Given the description of an element on the screen output the (x, y) to click on. 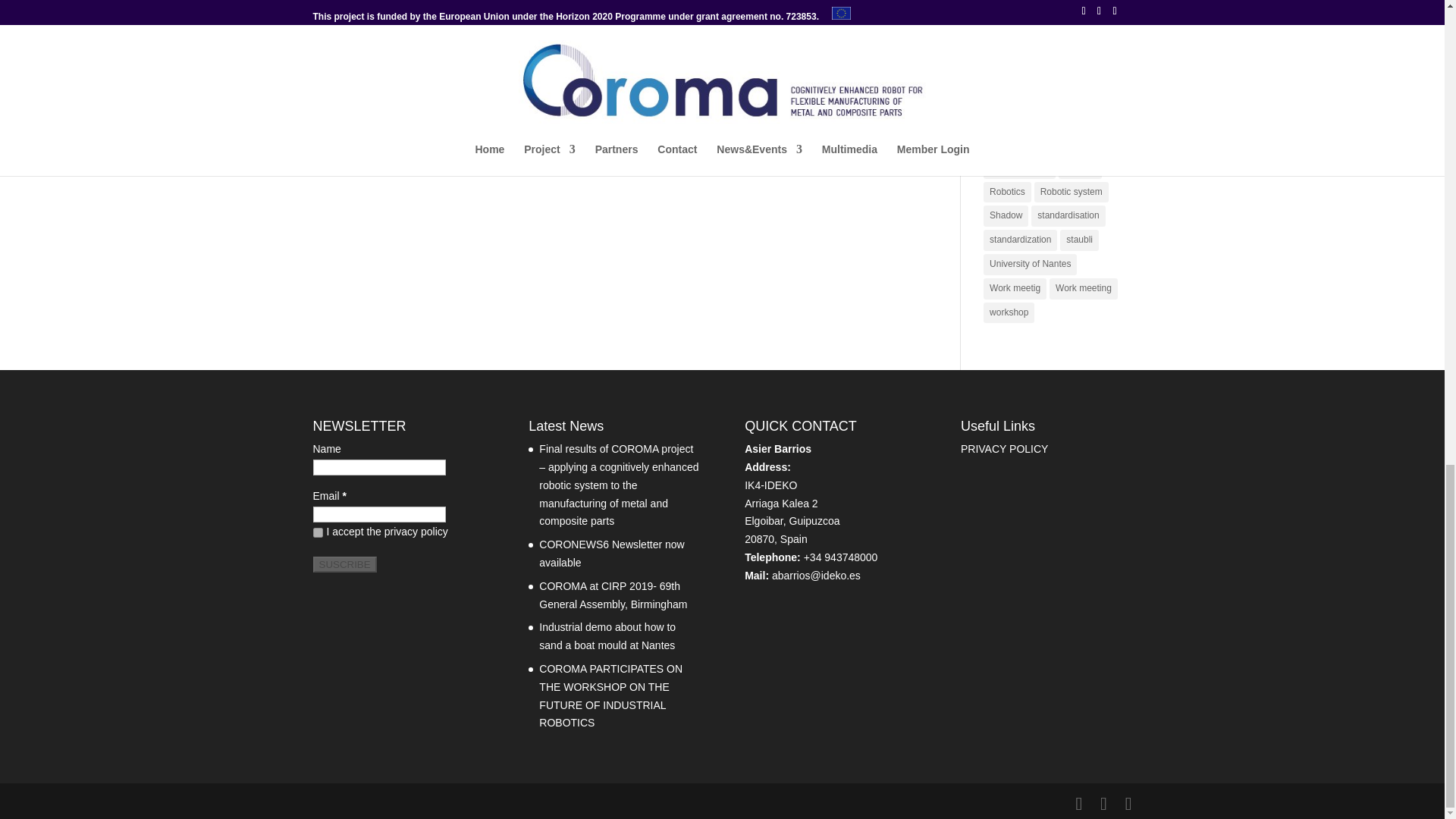
1 (317, 532)
SUSCRIBE (344, 564)
Email (379, 514)
Name (379, 467)
